Given the description of an element on the screen output the (x, y) to click on. 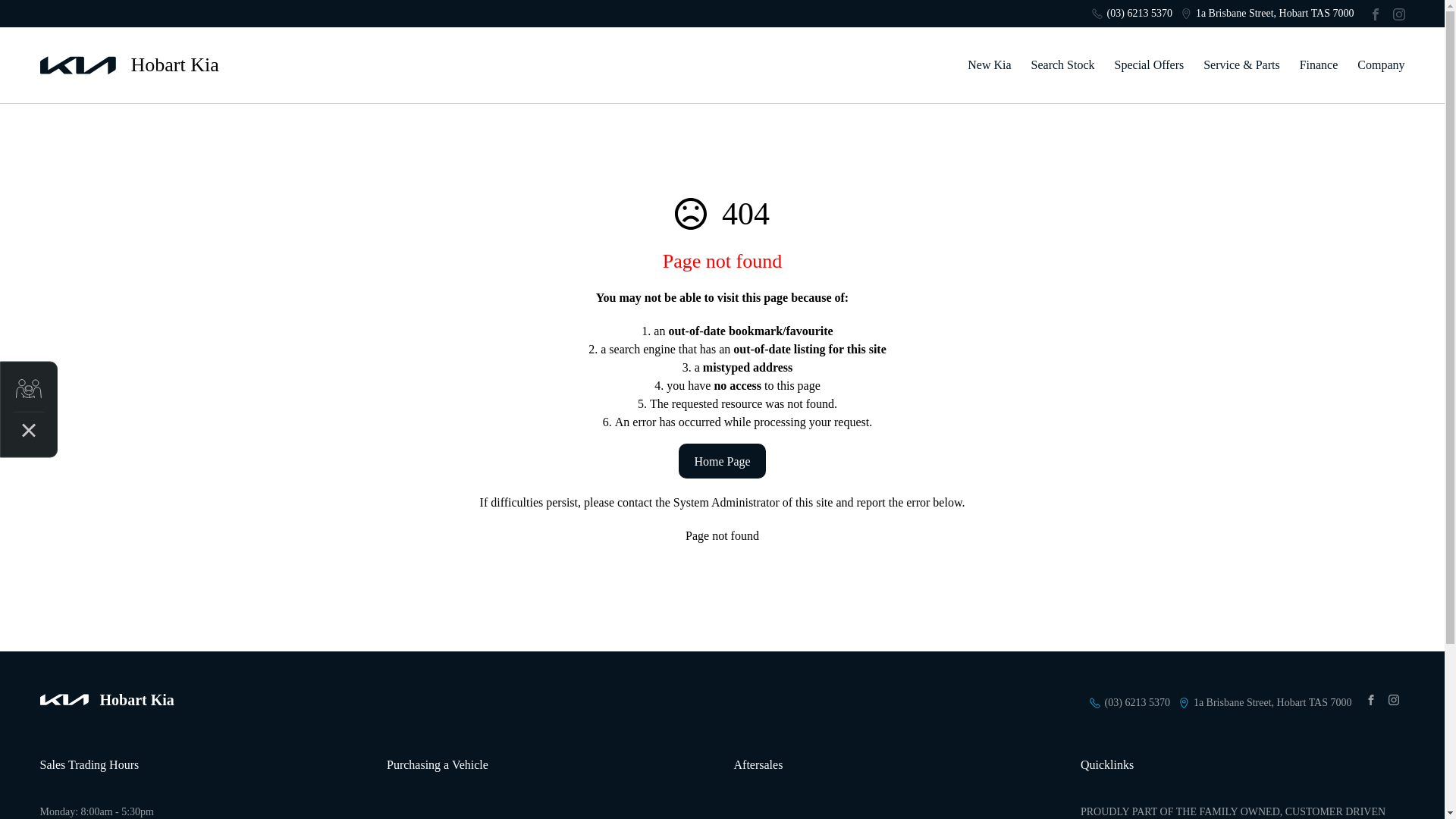
(03) 6213 5370 Element type: text (1137, 702)
Finance Element type: text (1318, 64)
(03) 6213 5370 Element type: text (1139, 13)
Hobart Kia Element type: text (106, 699)
Search Stock Element type: text (1062, 64)
Home Page Element type: text (721, 460)
1a Brisbane Street, Hobart TAS 7000 Element type: text (1272, 702)
Hobart Kia Element type: text (128, 65)
Company Element type: text (1375, 64)
1a Brisbane Street, Hobart TAS 7000 Element type: text (1274, 13)
Special Offers Element type: text (1149, 64)
New Kia Element type: text (988, 64)
Service & Parts Element type: text (1241, 64)
